Given the description of an element on the screen output the (x, y) to click on. 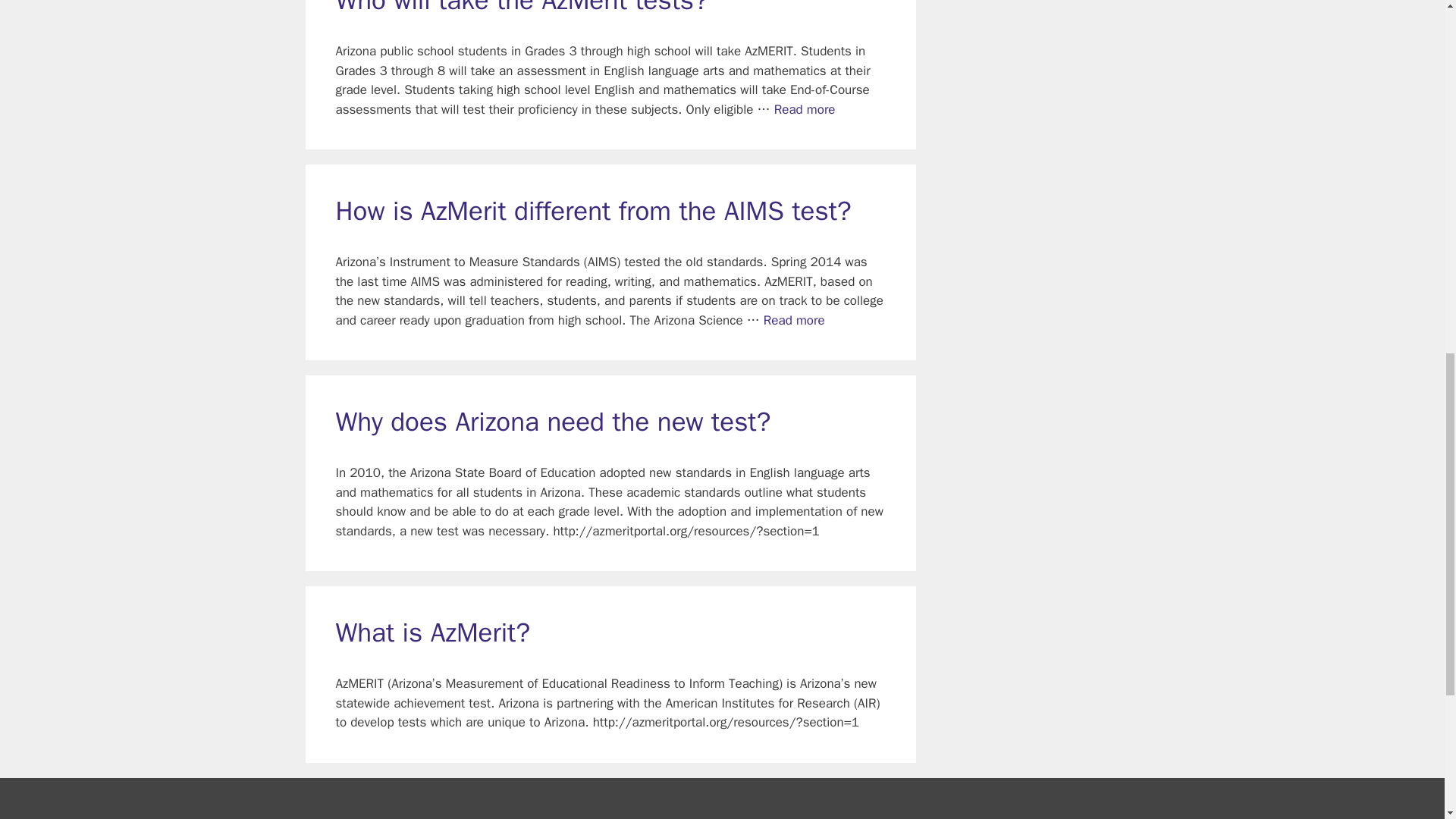
Scroll back to top (1406, 720)
Who will take the AzMerit tests? (804, 109)
How is AzMerit different from the AIMS test? (793, 320)
